Given the description of an element on the screen output the (x, y) to click on. 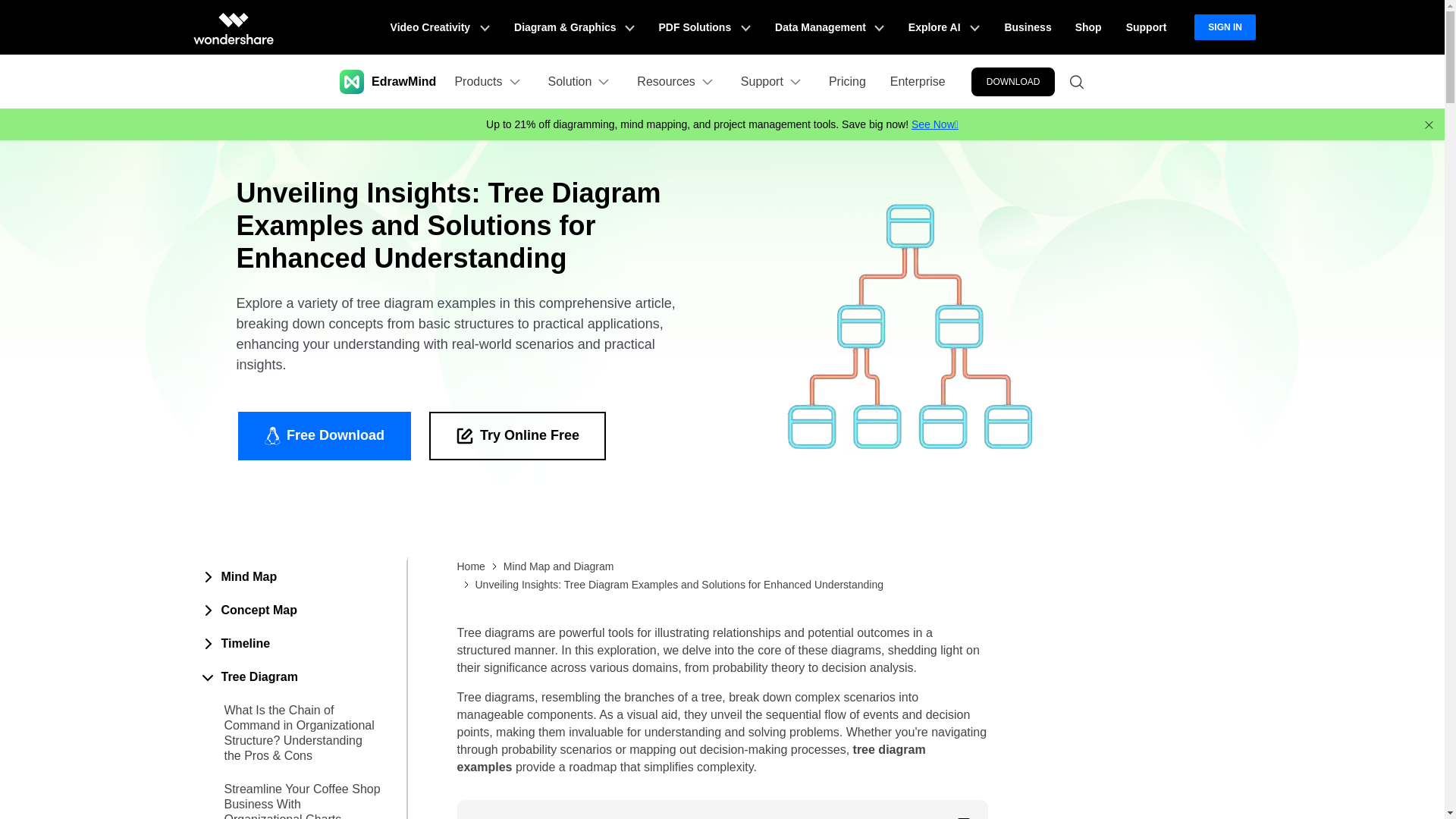
PDF Solutions (704, 27)
Data Management (829, 27)
Video Creativity (439, 27)
Business (1026, 27)
Explore AI (943, 27)
